Given the description of an element on the screen output the (x, y) to click on. 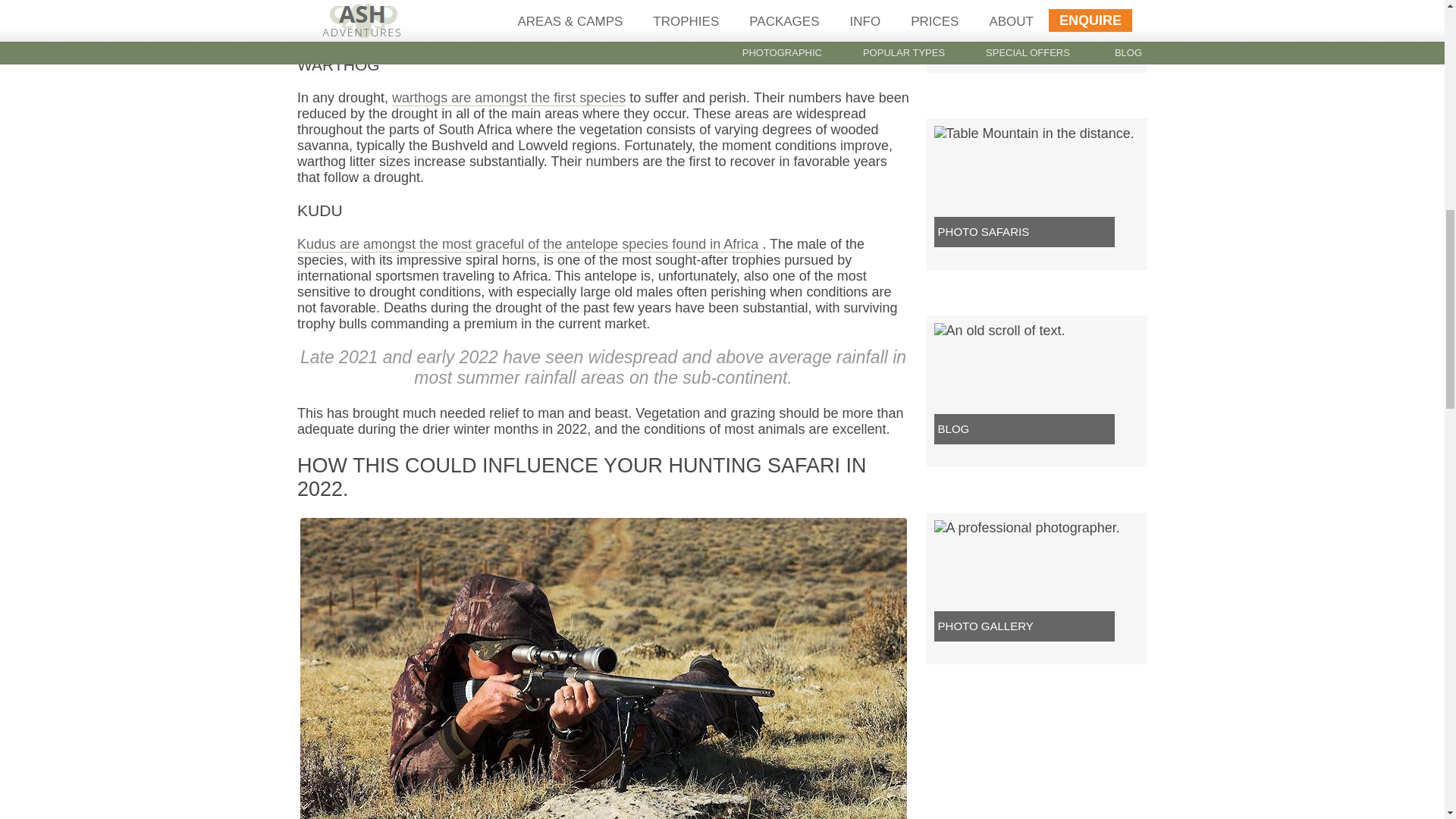
PHOTO SAFARIS (983, 231)
warthogs are amongst the first species (508, 98)
PHOTO GALLERY (985, 625)
BLOG (953, 428)
LUXURY HUNTS (981, 33)
